Given the description of an element on the screen output the (x, y) to click on. 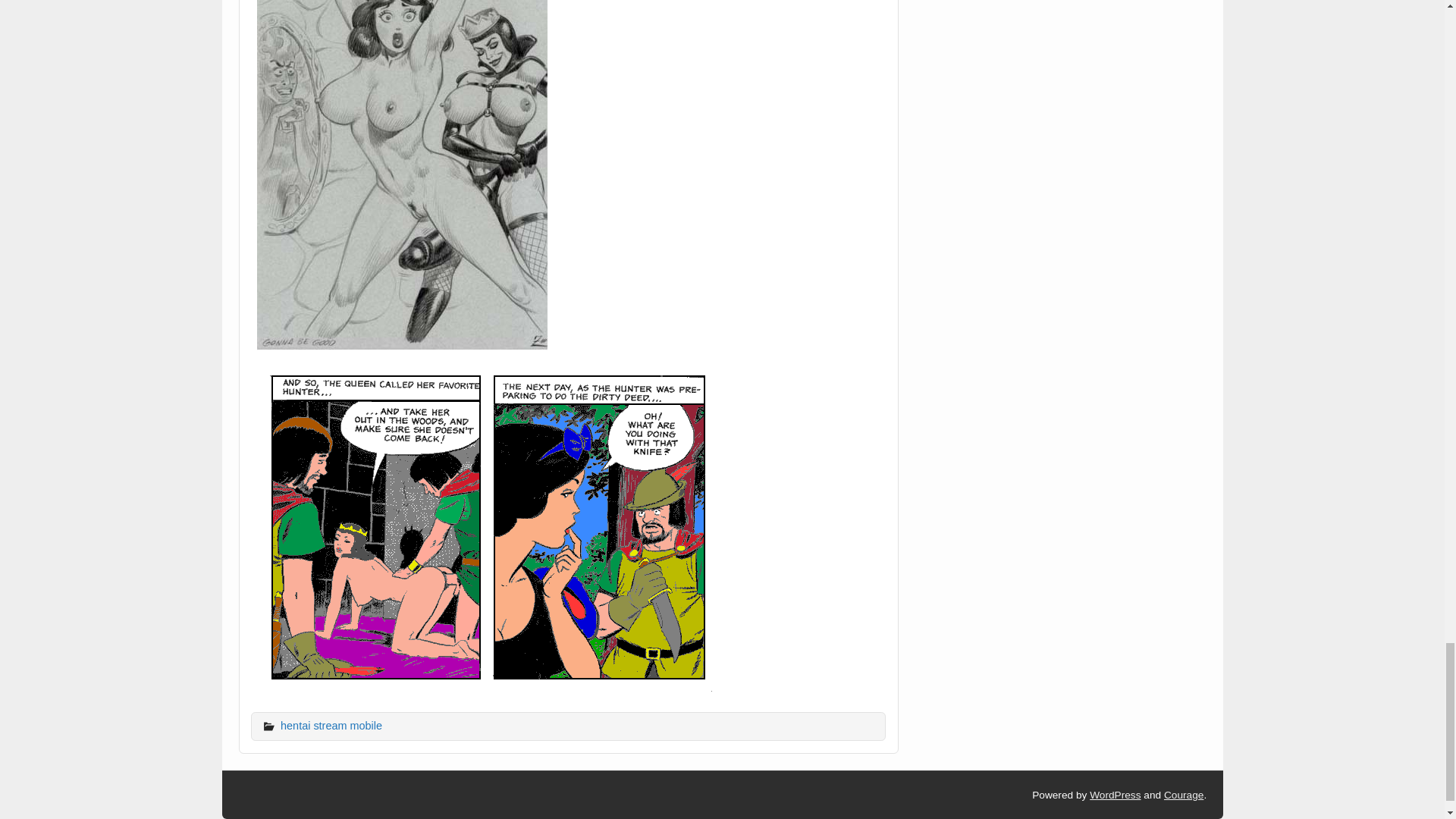
WordPress (1114, 794)
Courage WordPress Theme (1183, 794)
hentai stream mobile (331, 725)
